Given the description of an element on the screen output the (x, y) to click on. 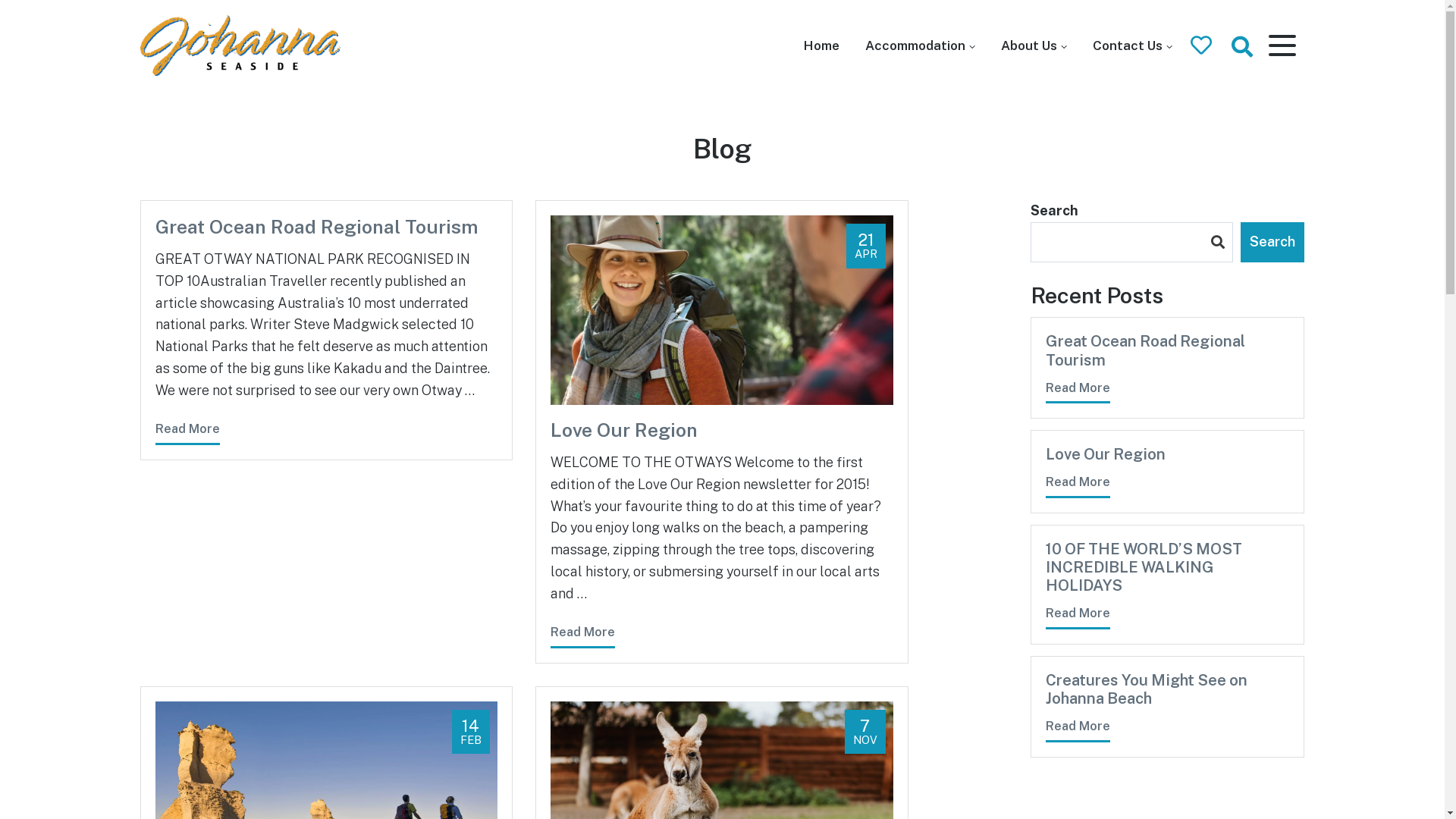
Great Ocean Road Regional Tourism Element type: text (325, 226)
Great Ocean Road Regional Tourism
Read More Element type: text (1167, 367)
Creatures You Might See on Johanna Beach
Read More Element type: text (1167, 706)
About Us Element type: text (1033, 45)
Read More Element type: text (186, 432)
Search Element type: text (1272, 242)
Johanna Seaside Element type: text (178, 104)
Contact Us Element type: text (1131, 45)
Read More Element type: text (582, 635)
Love Our Region Element type: text (721, 429)
Love Our Region
Read More Element type: text (1167, 471)
Home Element type: text (821, 45)
Accommodation Element type: text (919, 45)
